Given the description of an element on the screen output the (x, y) to click on. 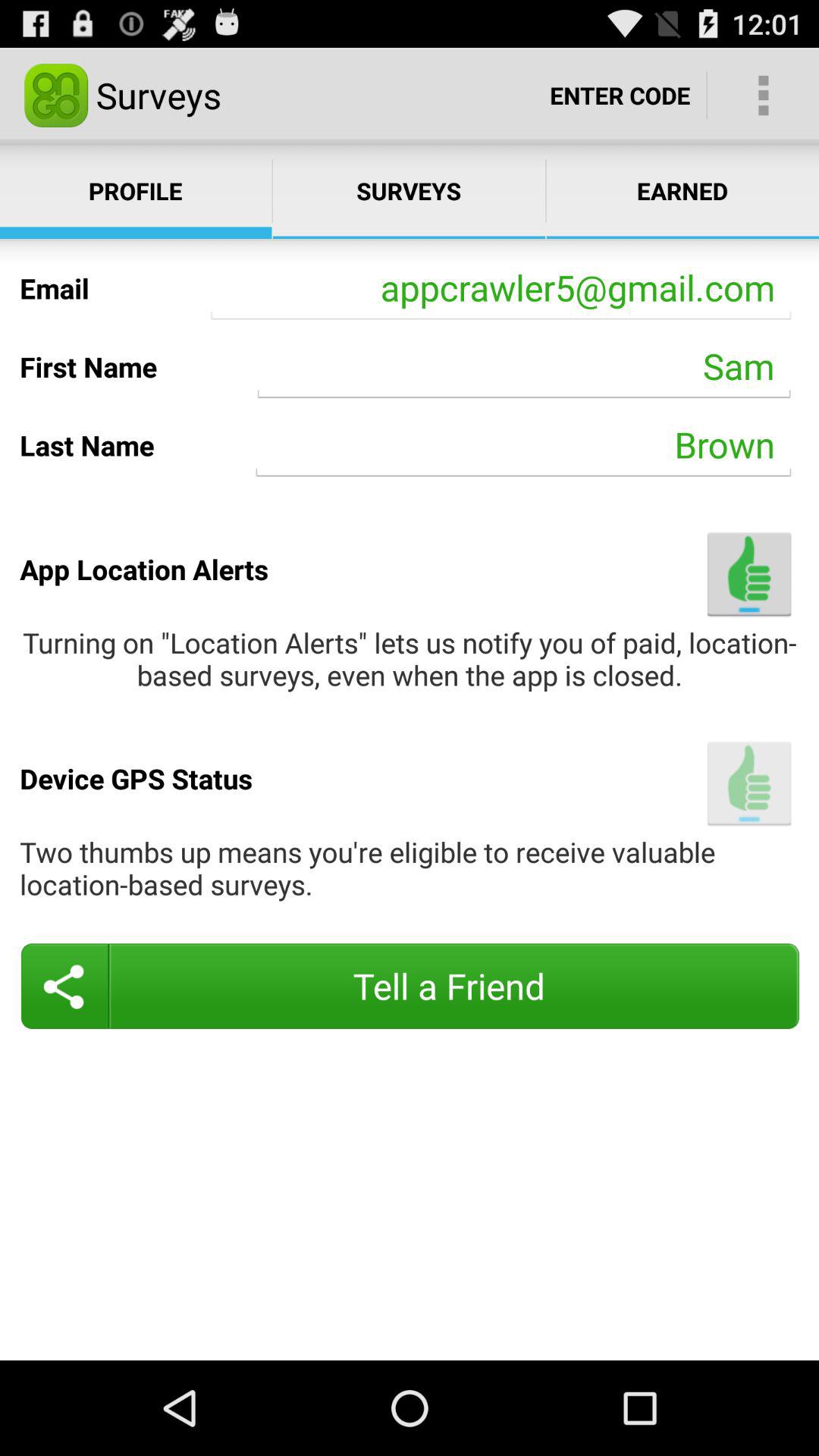
accept location alerts (749, 573)
